Given the description of an element on the screen output the (x, y) to click on. 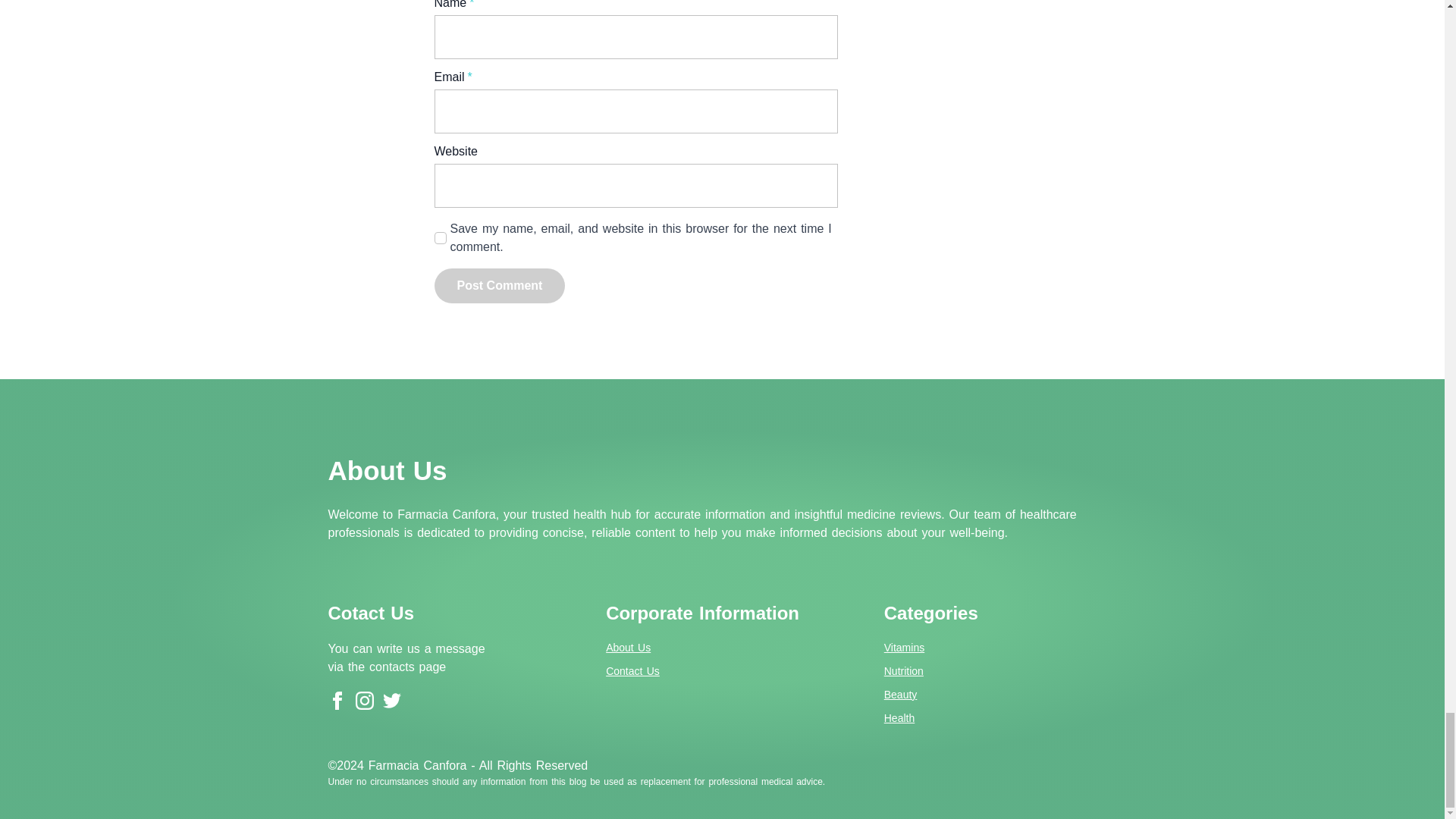
Vitamins (903, 647)
Nutrition (903, 671)
Beauty (900, 694)
yes (439, 237)
Post Comment (498, 285)
About Us (627, 647)
Post Comment (498, 285)
Contact Us (632, 671)
